Given the description of an element on the screen output the (x, y) to click on. 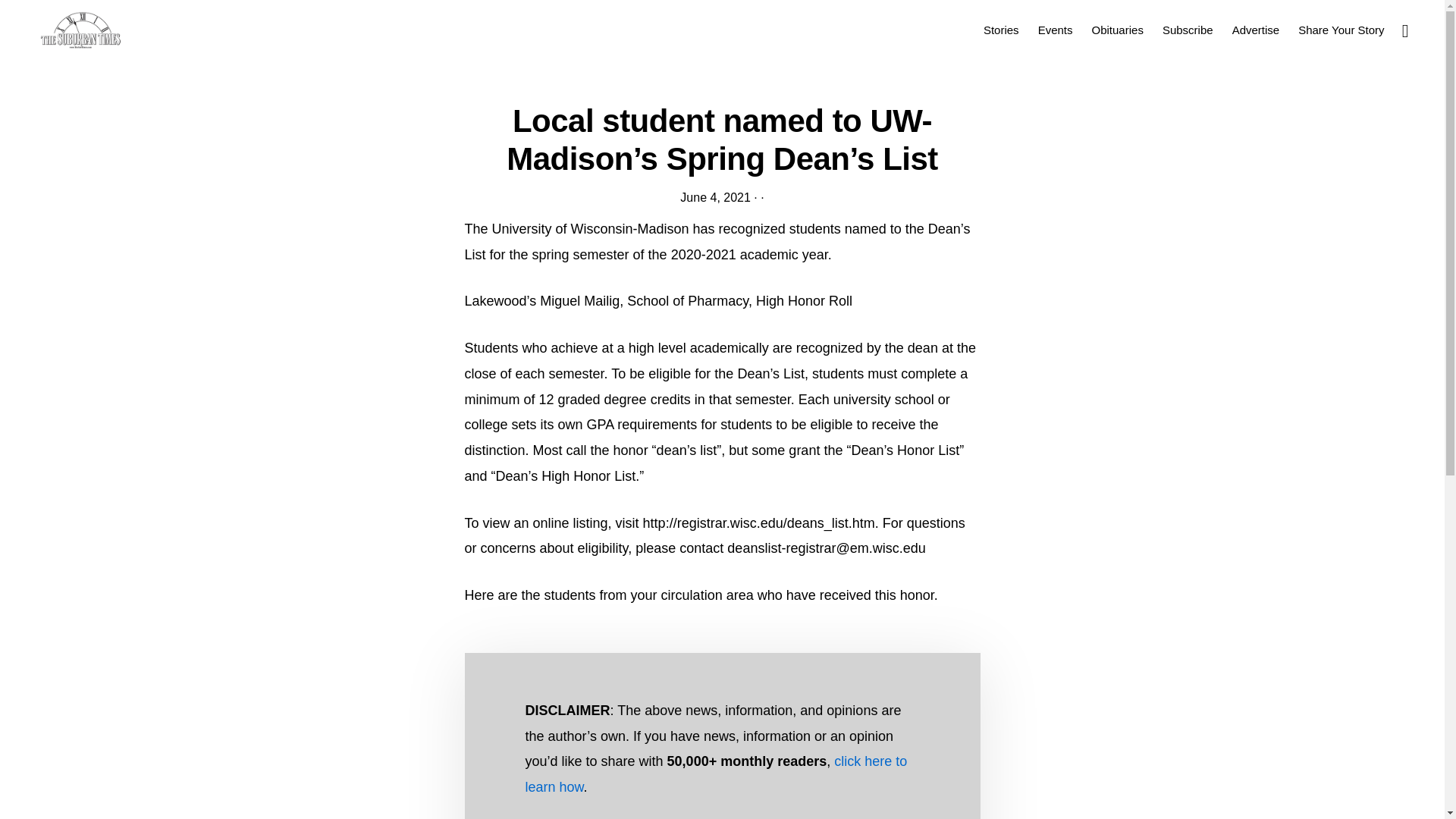
COMMENT POLICY (616, 775)
TERMS OF SERVICE (971, 775)
Events (1055, 29)
click here to learn how (715, 773)
ADVERTISE (526, 775)
SUBSCRIBE (773, 775)
Obituaries (1117, 29)
Advertise (1255, 29)
PRIVACY POLICY (862, 775)
